Given the description of an element on the screen output the (x, y) to click on. 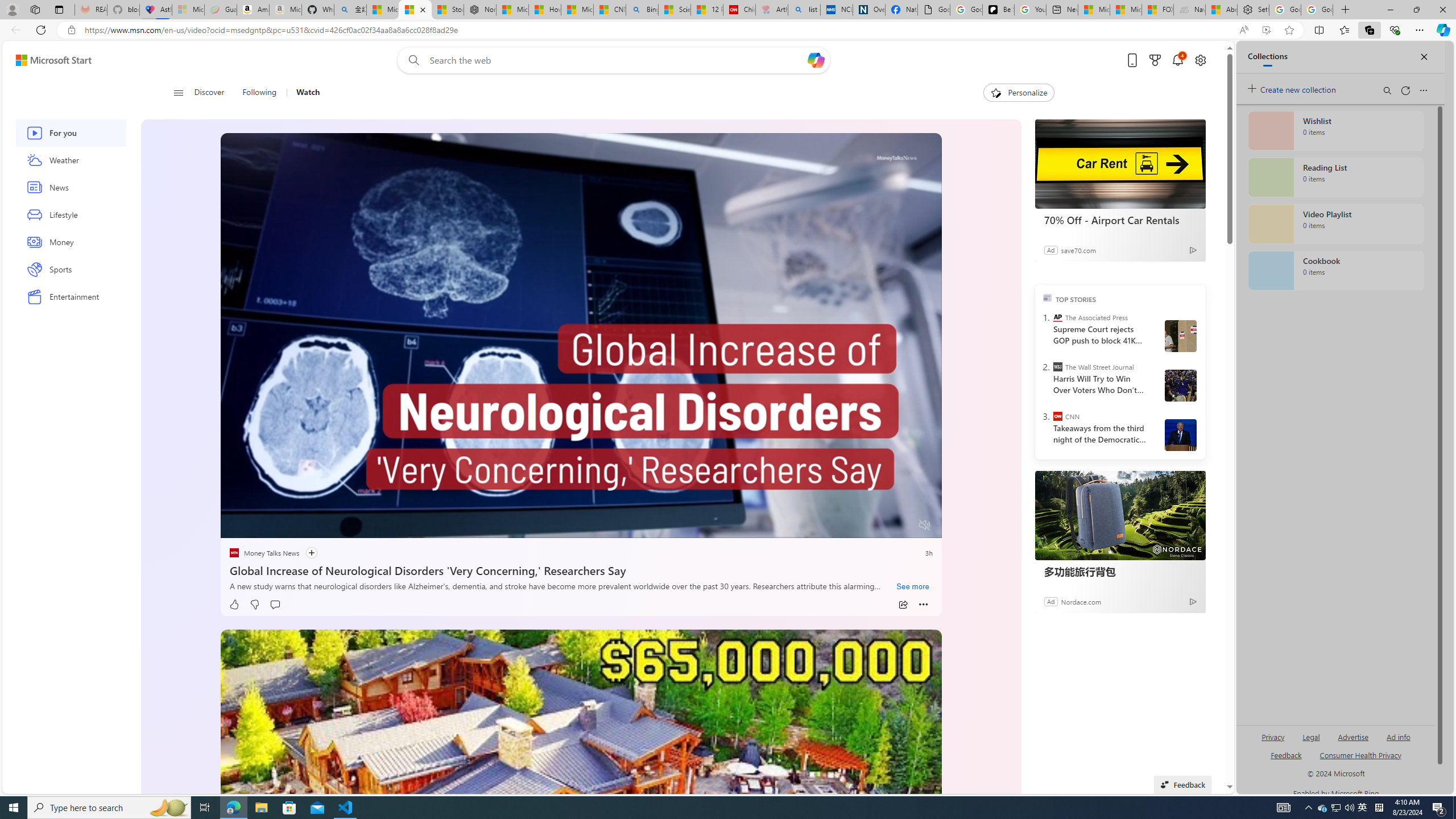
save70.com (1078, 249)
Unmute (924, 524)
Share (902, 604)
AutomationID: sb_feedback (1286, 754)
Enhance video (1266, 29)
FOX News - MSN (1157, 9)
Class: at-item inline-watch (923, 604)
